Given the description of an element on the screen output the (x, y) to click on. 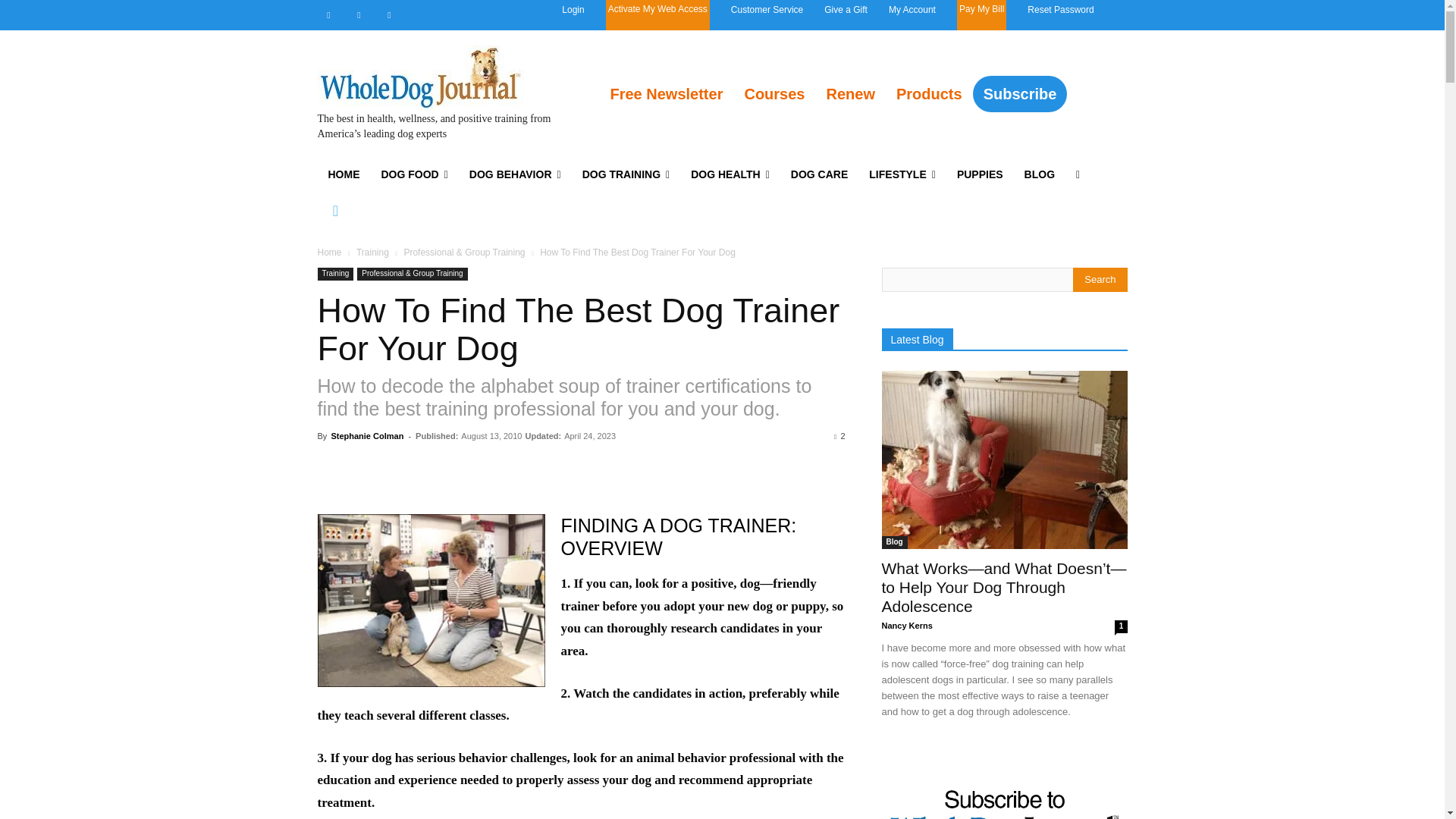
Instagram (358, 15)
Twitter (388, 15)
Search (1099, 279)
Facebook (328, 15)
Customer Service (766, 9)
Give a Gift (845, 9)
Login (572, 9)
Activate My Web Access (657, 15)
